Given the description of an element on the screen output the (x, y) to click on. 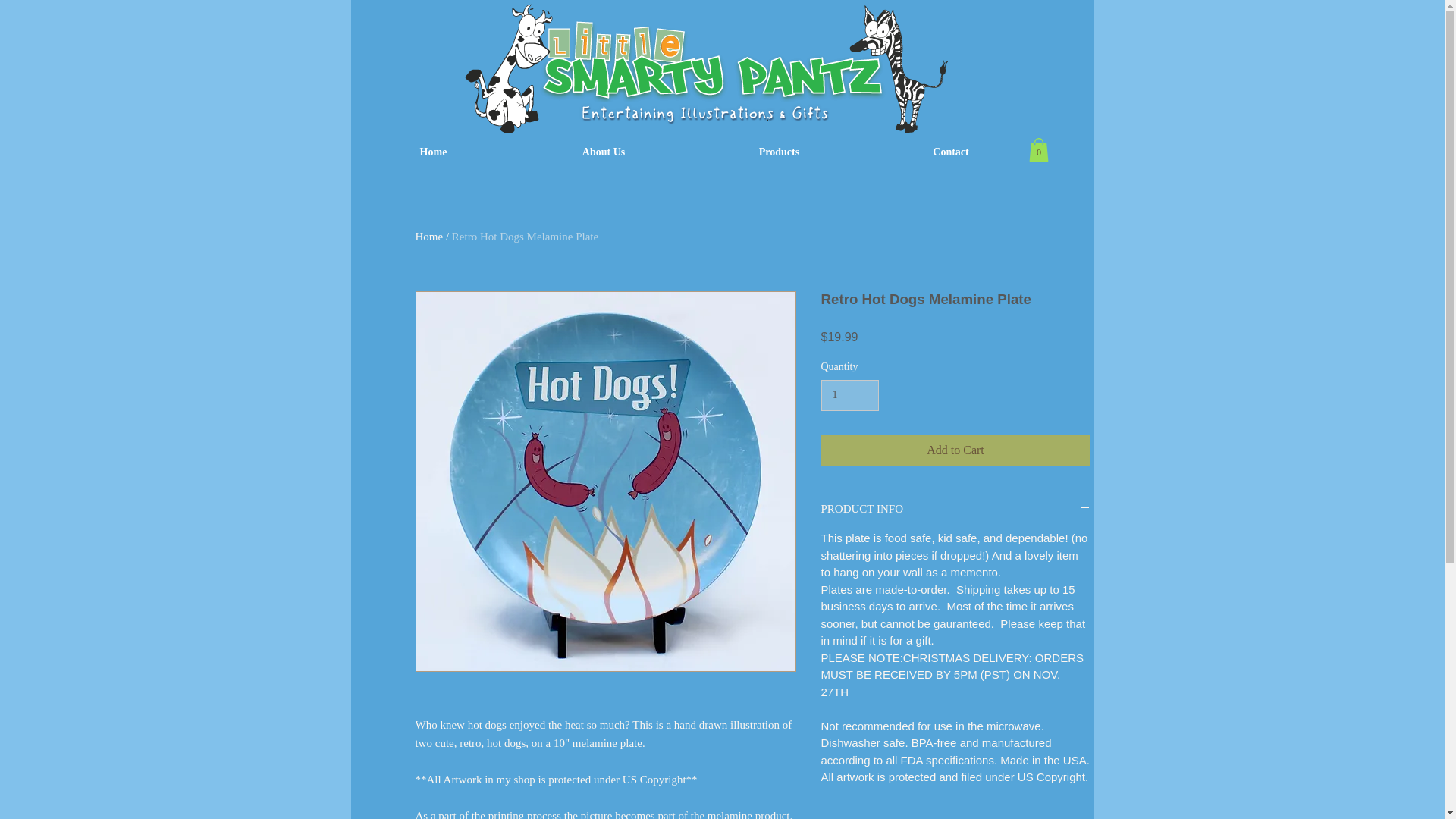
1 (849, 395)
PRODUCT INFO (955, 509)
About Us (604, 151)
Add to Cart (955, 450)
Home (433, 151)
Retro Hot Dogs Melamine Plate (524, 236)
Home (429, 236)
website banner.png (703, 68)
Contact (950, 151)
